Given the description of an element on the screen output the (x, y) to click on. 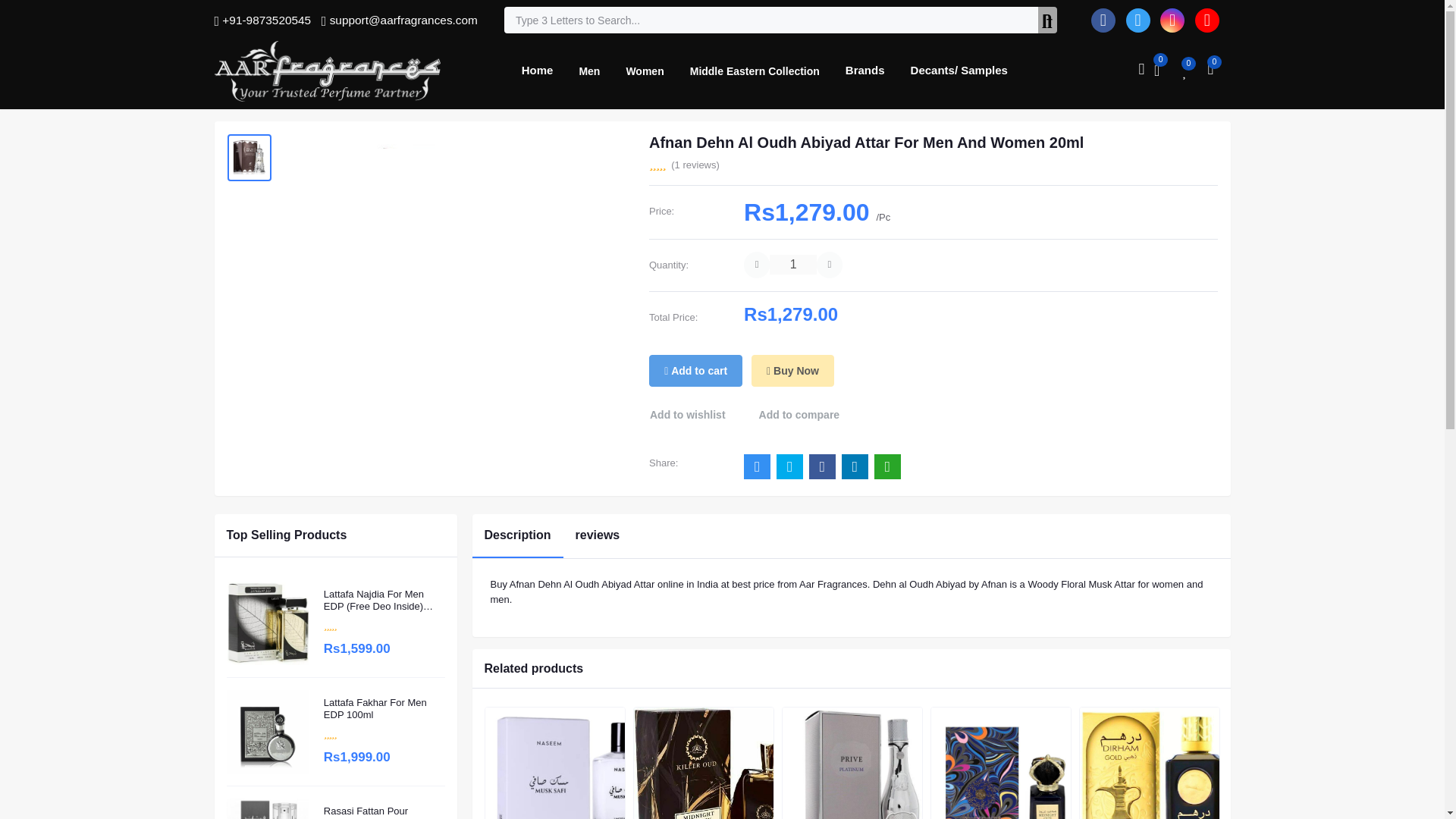
0 (1165, 67)
Middle Eastern Collection (754, 71)
Brands (865, 69)
Home (537, 69)
Women (644, 71)
1 (792, 264)
